Given the description of an element on the screen output the (x, y) to click on. 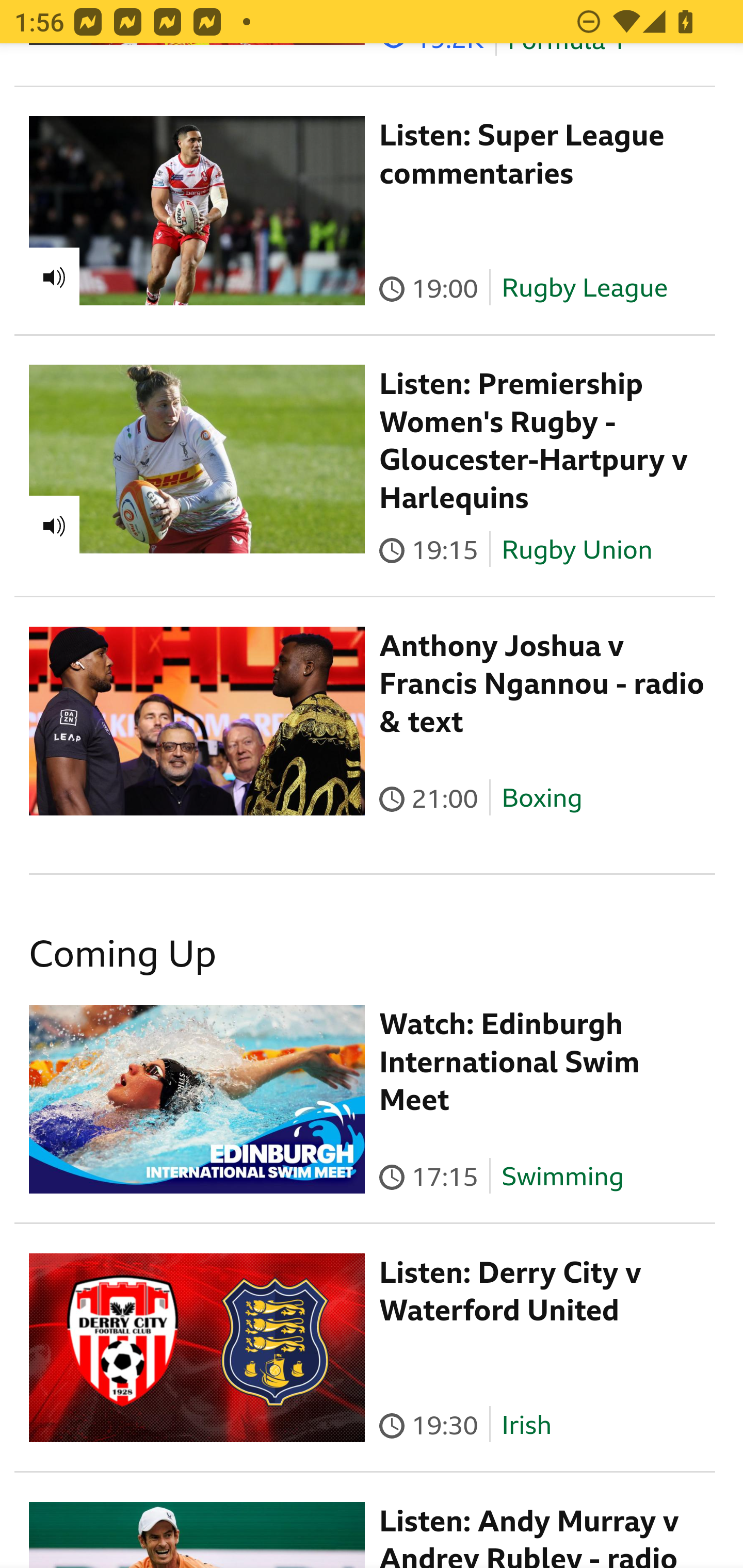
Listen: Super League commentaries (522, 155)
Rugby League (584, 288)
Rugby Union (576, 550)
Anthony Joshua v Francis Ngannou - radio & text (541, 685)
Boxing (541, 799)
Watch: Edinburgh International Swim Meet (509, 1062)
Swimming (562, 1176)
Listen: Derry City v Waterford United (510, 1292)
Irish (526, 1425)
